Given the description of an element on the screen output the (x, y) to click on. 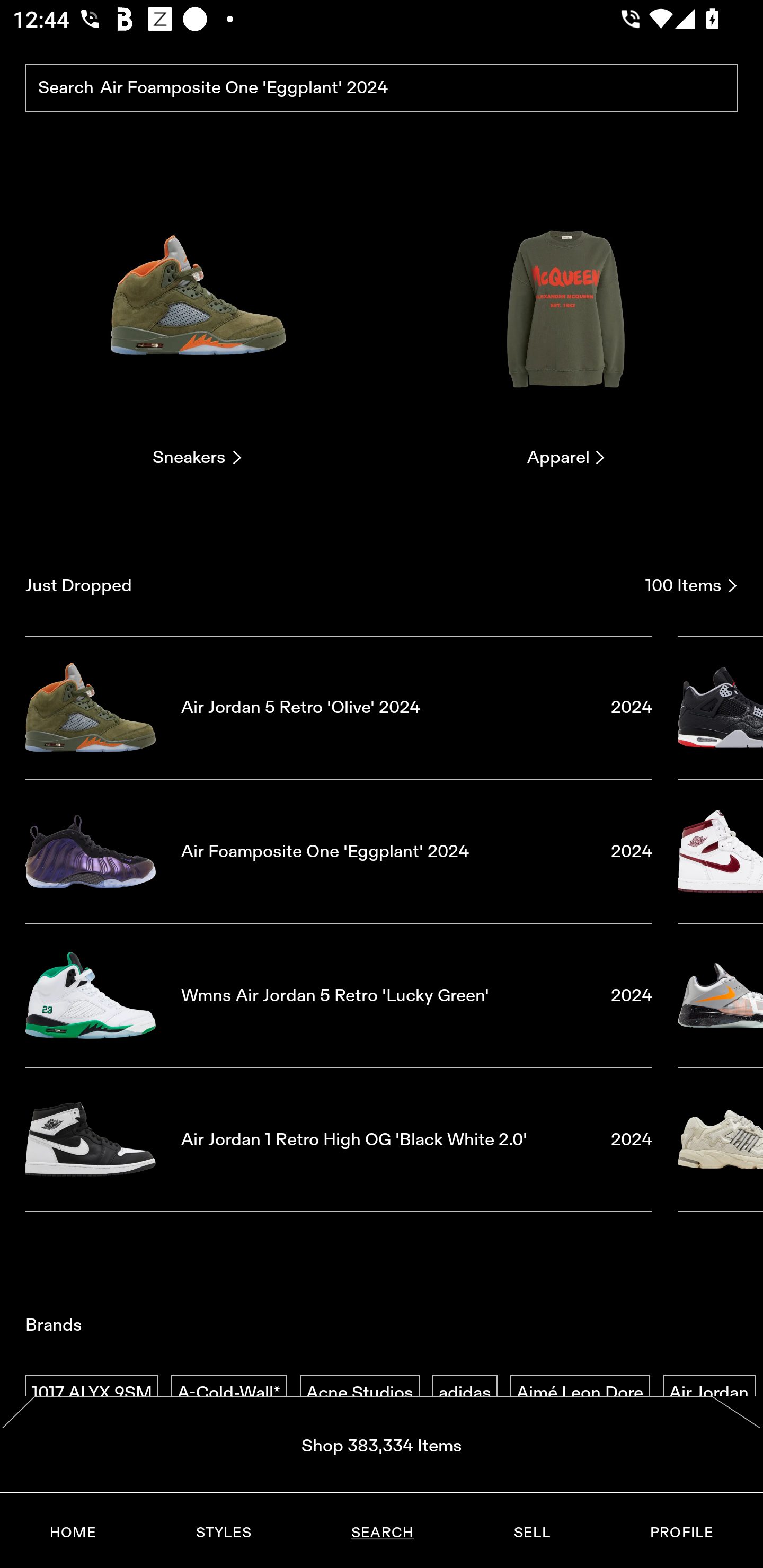
Search (381, 88)
Sneakers (196, 323)
Apparel (565, 323)
Just Dropped (328, 585)
100 Items (691, 585)
Air Jordan 5 Retro 'Olive' 2024 2024 (338, 707)
Air Foamposite One 'Eggplant' 2024 2024 (338, 851)
Wmns Air Jordan 5 Retro 'Lucky Green' 2024 (338, 995)
Air Jordan 1 Retro High OG 'Black White 2.0' 2024 (338, 1139)
1017 ALYX 9SM (91, 1393)
A-Cold-Wall* (228, 1393)
Acne Studios (359, 1393)
adidas (464, 1393)
Aimé Leon Dore (580, 1393)
Air Jordan (709, 1393)
HOME (72, 1532)
STYLES (222, 1532)
SEARCH (381, 1532)
SELL (531, 1532)
PROFILE (681, 1532)
